Given the description of an element on the screen output the (x, y) to click on. 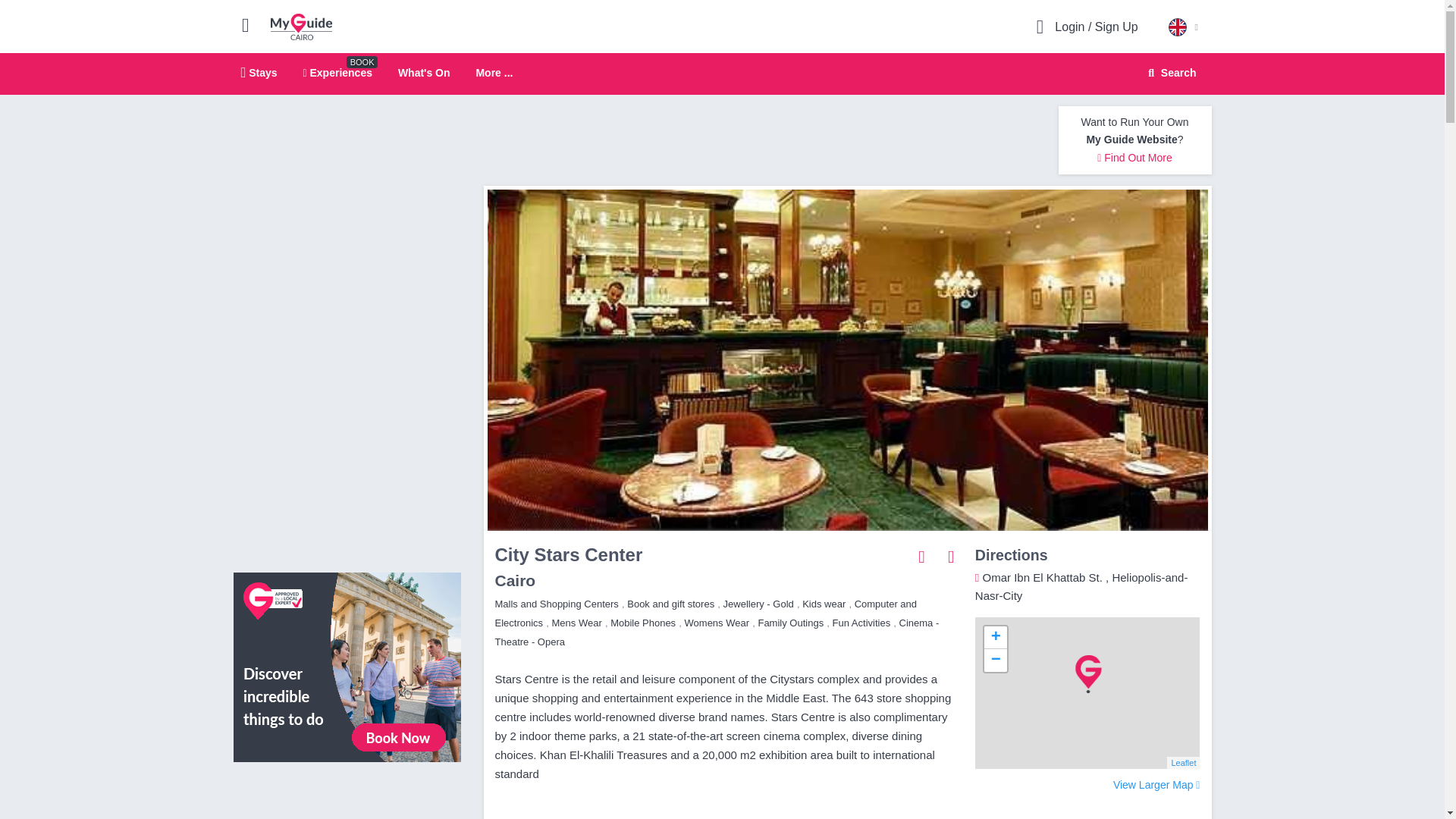
My Guide Cairo (300, 25)
Stays (259, 72)
Advertisement (346, 796)
Search Website (1170, 73)
Search (1169, 72)
A JS library for interactive maps (1182, 762)
Experiences (337, 72)
Zoom in (995, 637)
More ... (494, 72)
